Given the description of an element on the screen output the (x, y) to click on. 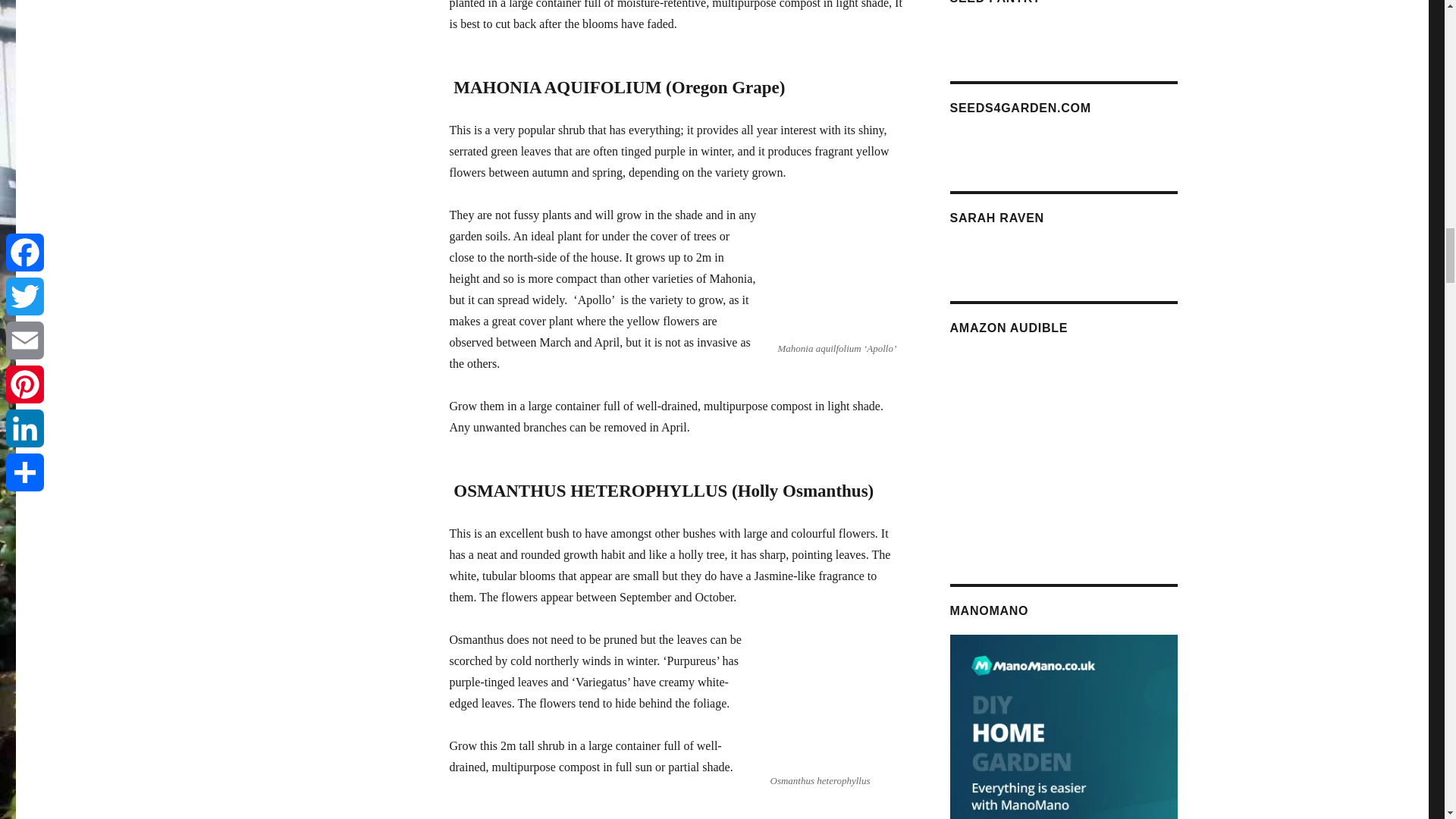
120x600 (1062, 138)
puple logo 160x100 (1062, 248)
SeedPantry120x90Logo (1062, 29)
